Given the description of an element on the screen output the (x, y) to click on. 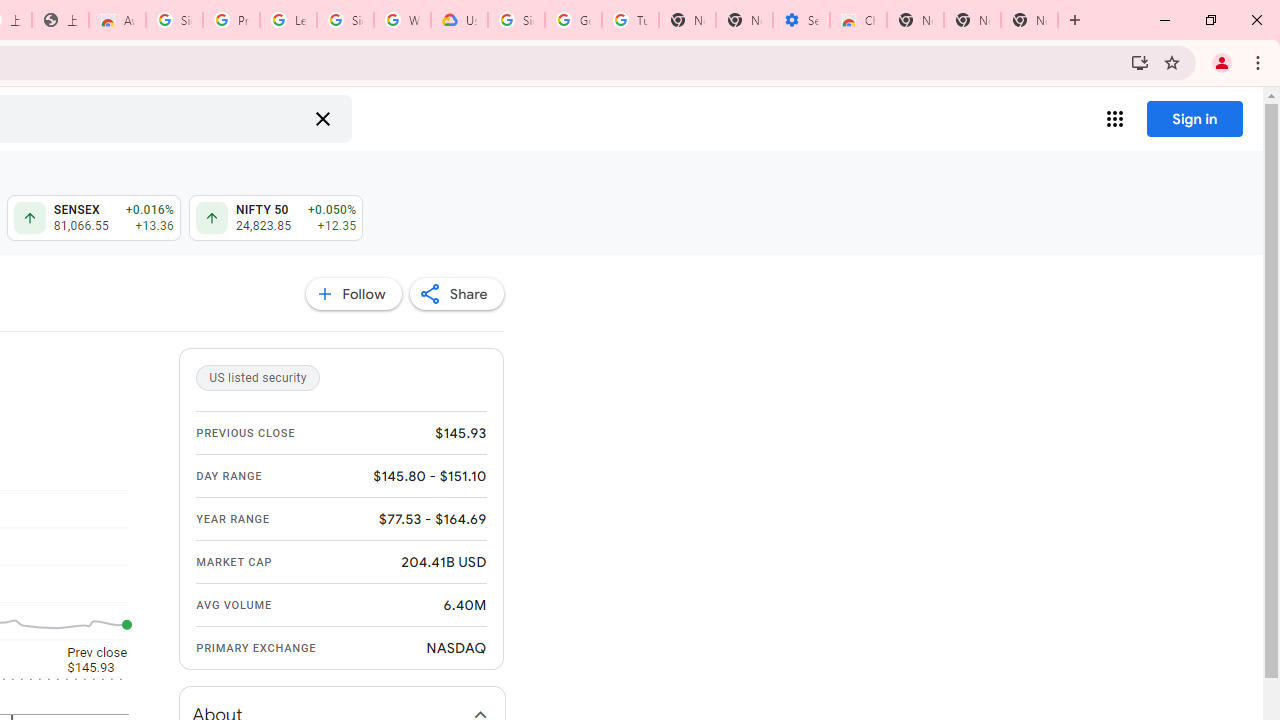
Sign in - Google Accounts (516, 20)
Who are Google's partners? - Privacy and conditions - Google (402, 20)
SENSEX 81,066.55 Down by 0.020% +13.36 (93, 218)
NIFTY 50 24,823.85 Up by 0.020% +12.35 (276, 218)
Chrome Web Store - Accessibility extensions (858, 20)
Google Account Help (573, 20)
New Tab (915, 20)
Sign in - Google Accounts (345, 20)
Follow (353, 293)
